Given the description of an element on the screen output the (x, y) to click on. 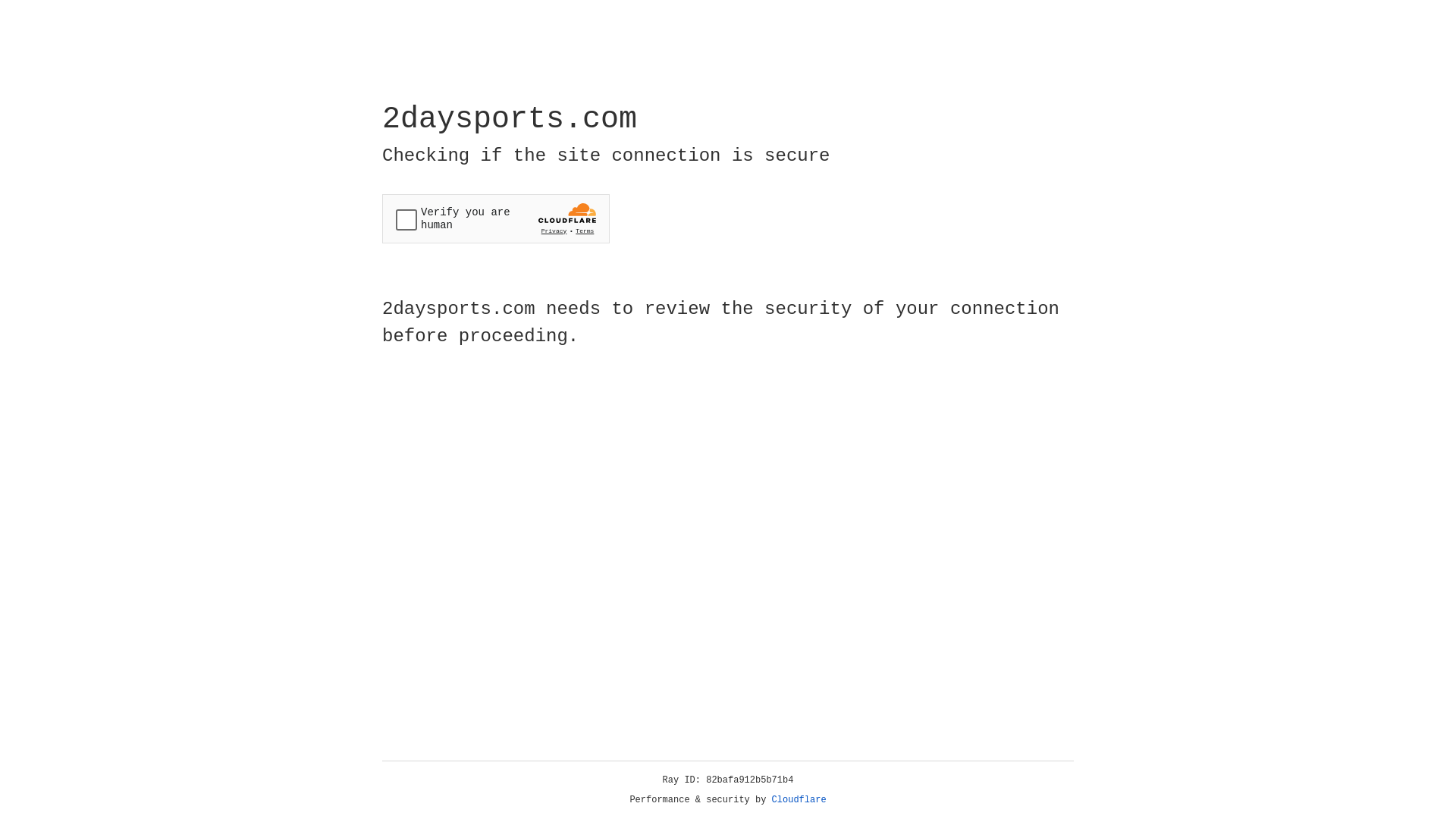
Widget containing a Cloudflare security challenge Element type: hover (495, 218)
Cloudflare Element type: text (798, 799)
